Given the description of an element on the screen output the (x, y) to click on. 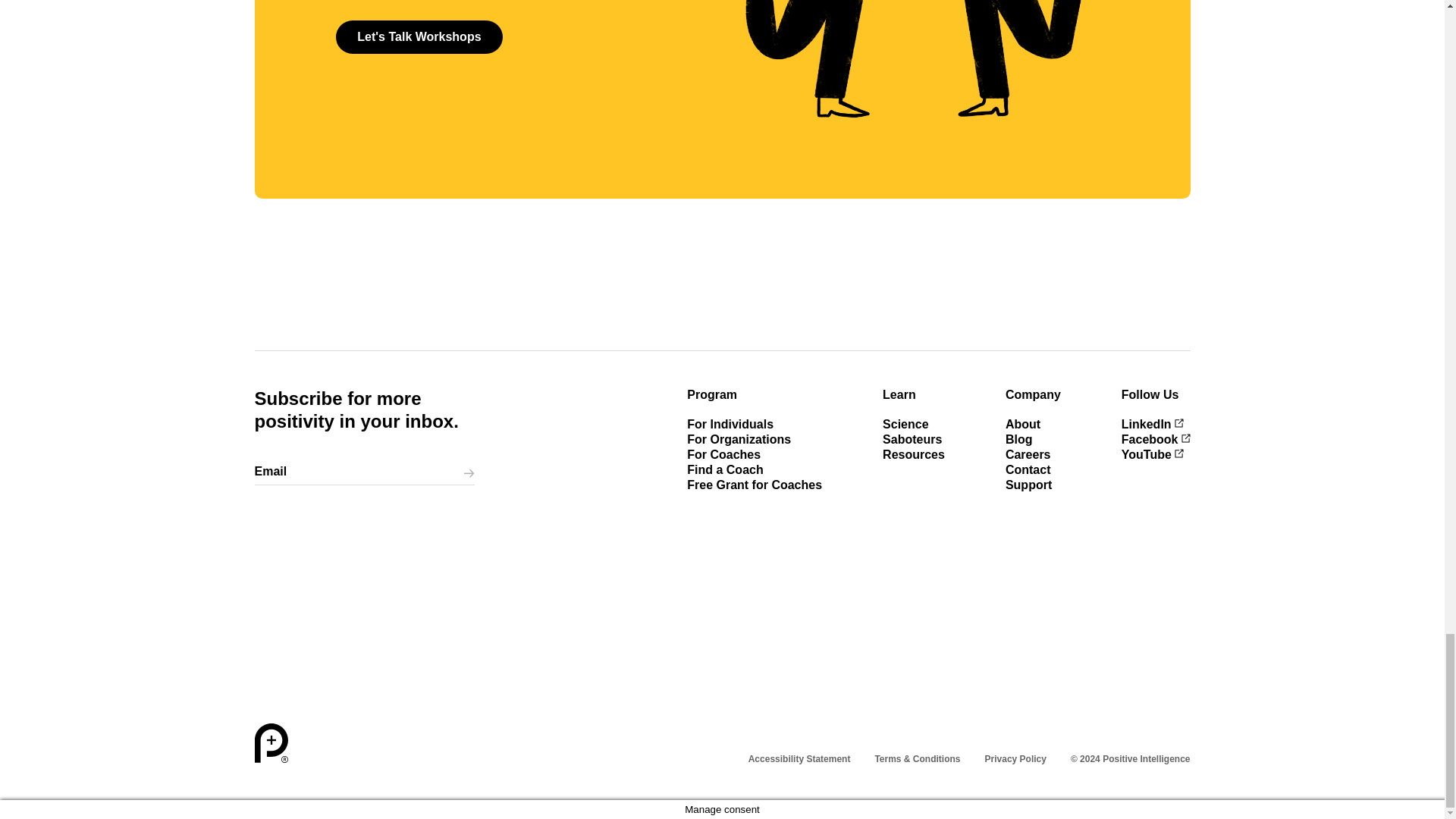
Submit (469, 472)
For Individuals (730, 423)
Resources (913, 454)
About (1023, 423)
For Coaches (723, 454)
For Organizations (738, 439)
Accessibility Statement (799, 759)
LinkedIn (1152, 423)
Blog (1019, 439)
Careers (1028, 454)
